Given the description of an element on the screen output the (x, y) to click on. 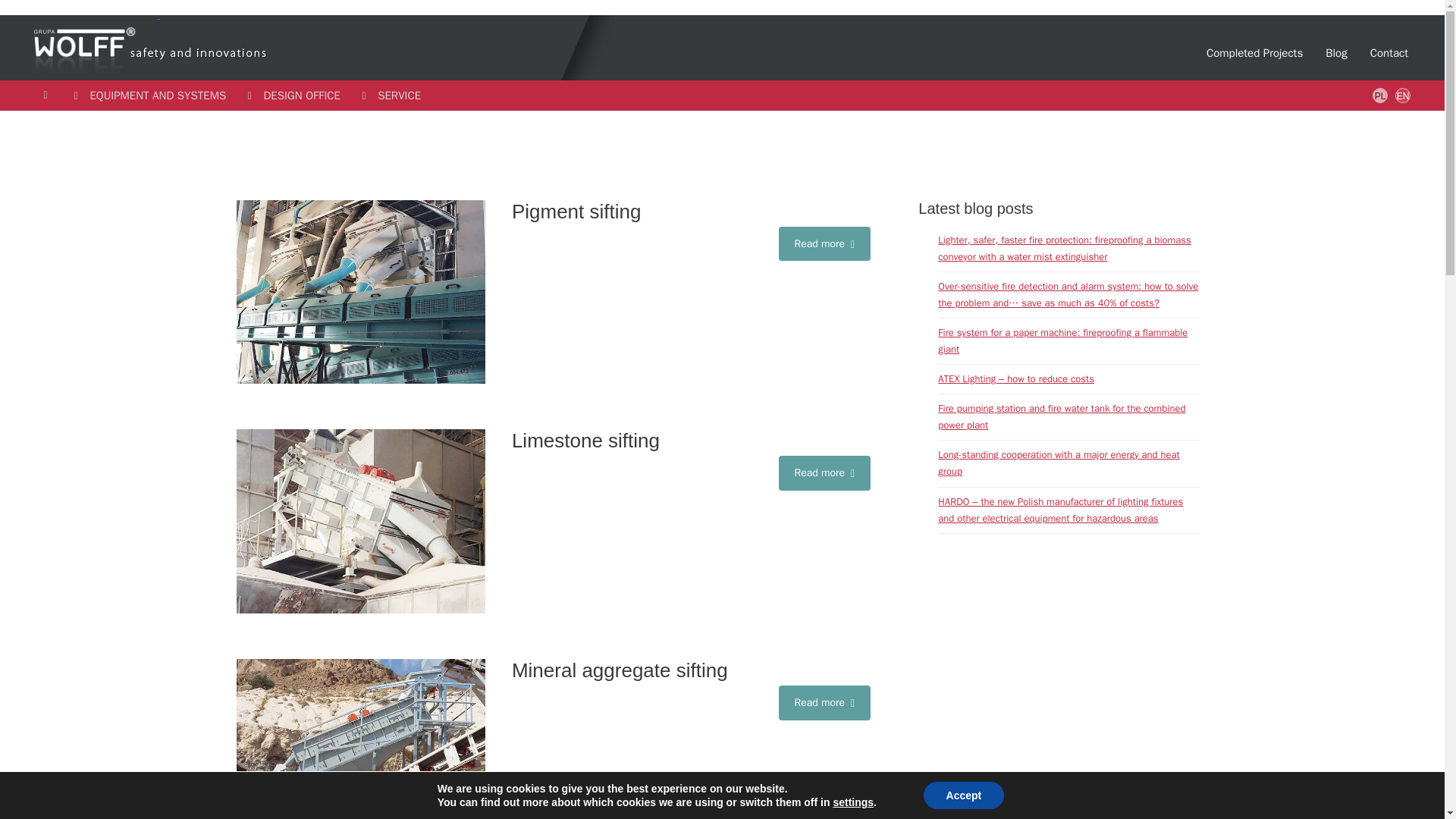
Contact (1388, 53)
Permalink to Mineral aggregate sifting (359, 739)
Permalink to Pigment sifting (691, 211)
Permalink to Limestone sifting (359, 521)
Explosion Safety (96, 14)
Explosion Safety (216, 47)
Completed Projects (1254, 53)
PL (1380, 95)
Permalink to Limestone sifting (691, 440)
EN (1402, 95)
Contact (1388, 53)
Permalink to Mineral aggregate sifting (1307, 51)
Blog (691, 670)
Permalink to Pigment sifting (1336, 53)
